Given the description of an element on the screen output the (x, y) to click on. 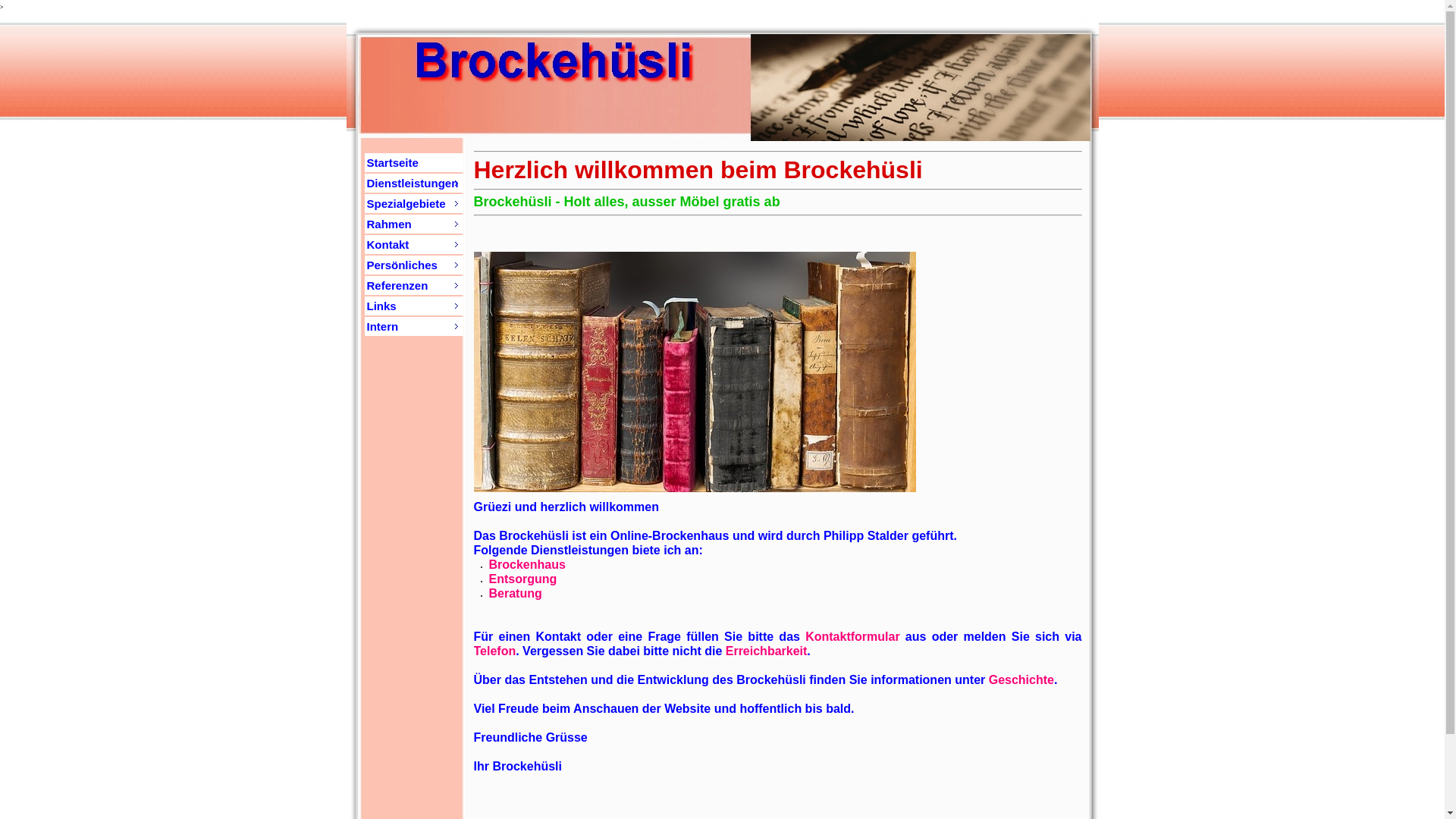
Intern Element type: text (413, 325)
Referenzen Element type: text (413, 285)
Beratung Element type: text (514, 592)
Entsorgung Element type: text (522, 578)
Links Element type: text (413, 305)
Erreichbarkeit Element type: text (766, 650)
Kontakt Element type: text (413, 244)
Startseite Element type: text (413, 162)
Telefon Element type: text (494, 650)
Brockenhaus Element type: text (526, 564)
Geschichte Element type: text (1021, 679)
Spezialgebiete Element type: text (413, 203)
Rahmen Element type: text (413, 223)
Kontaktformular Element type: text (852, 636)
Dienstleistungen Element type: text (413, 182)
